Given the description of an element on the screen output the (x, y) to click on. 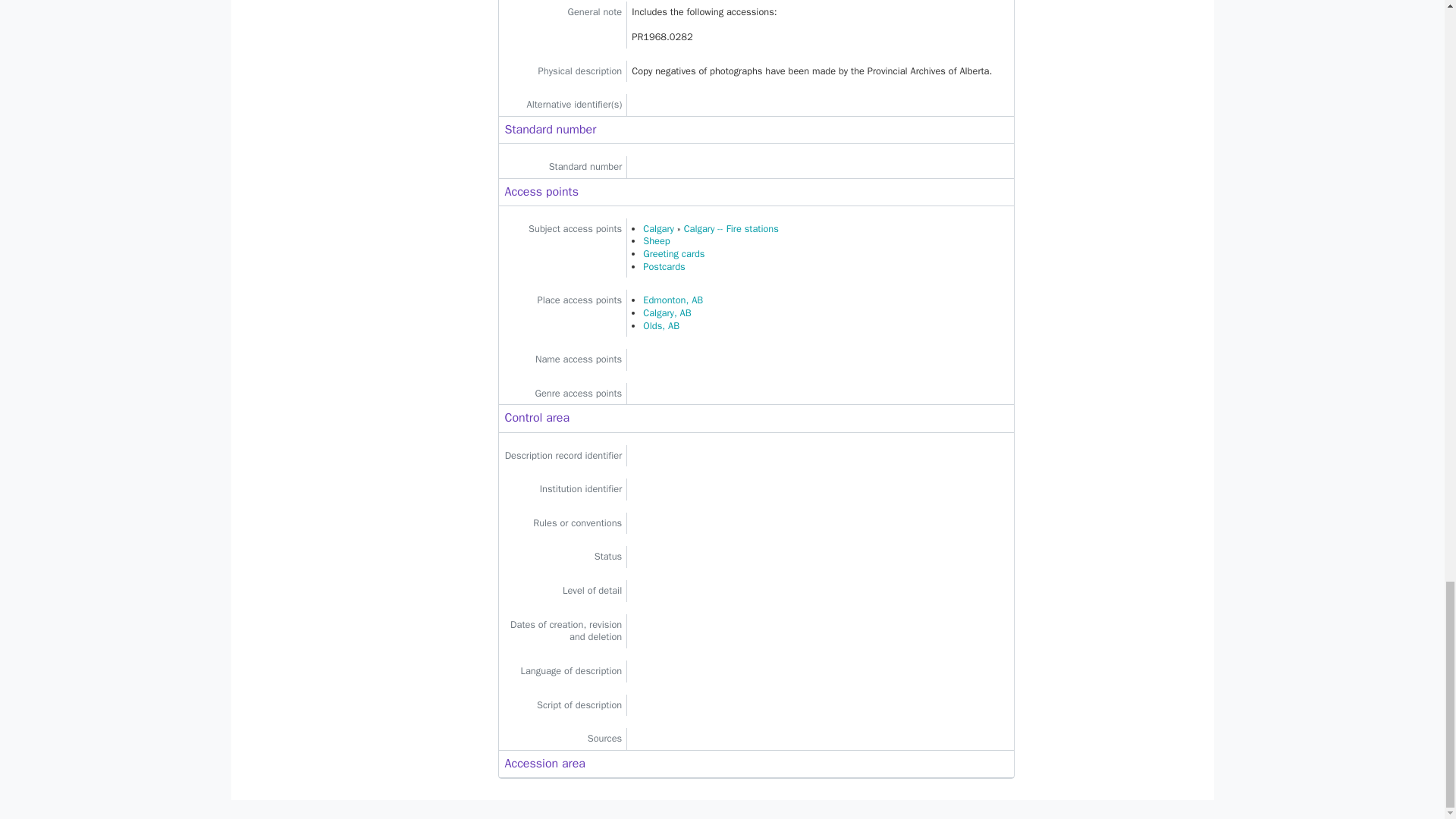
Calgary (658, 228)
Calgary (658, 228)
Edmonton, AB (673, 300)
Calgary, AB (666, 313)
Calgary -- Fire stations (731, 228)
Calgary -- Fire stations (731, 228)
Greeting cards (673, 254)
Olds, AB (661, 326)
Sheep (656, 241)
Sheep (656, 241)
Postcards (663, 266)
Postcards (663, 266)
Edmonton, AB (673, 300)
Greeting cards (673, 254)
